Given the description of an element on the screen output the (x, y) to click on. 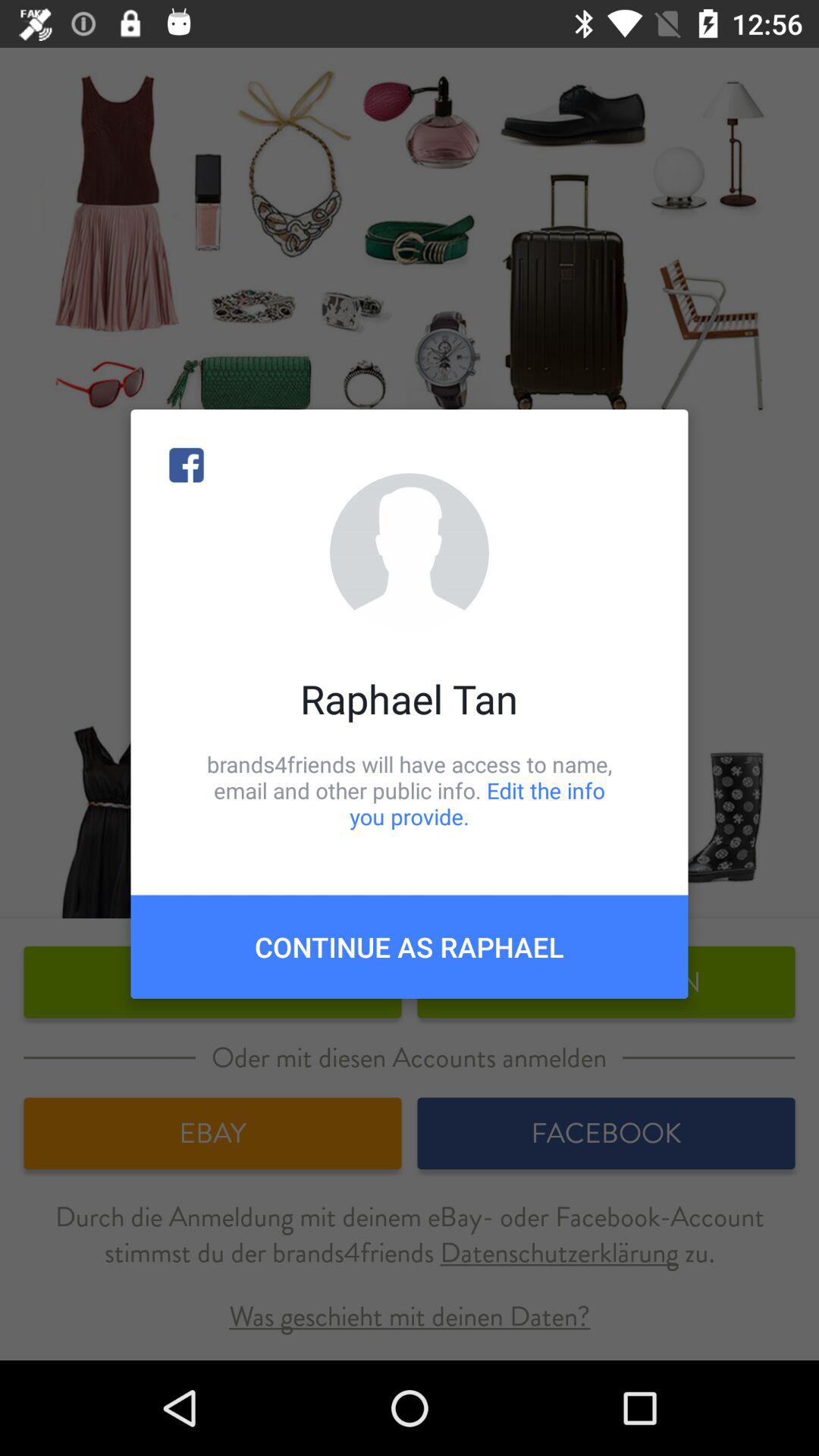
swipe to brands4friends will have item (409, 790)
